Given the description of an element on the screen output the (x, y) to click on. 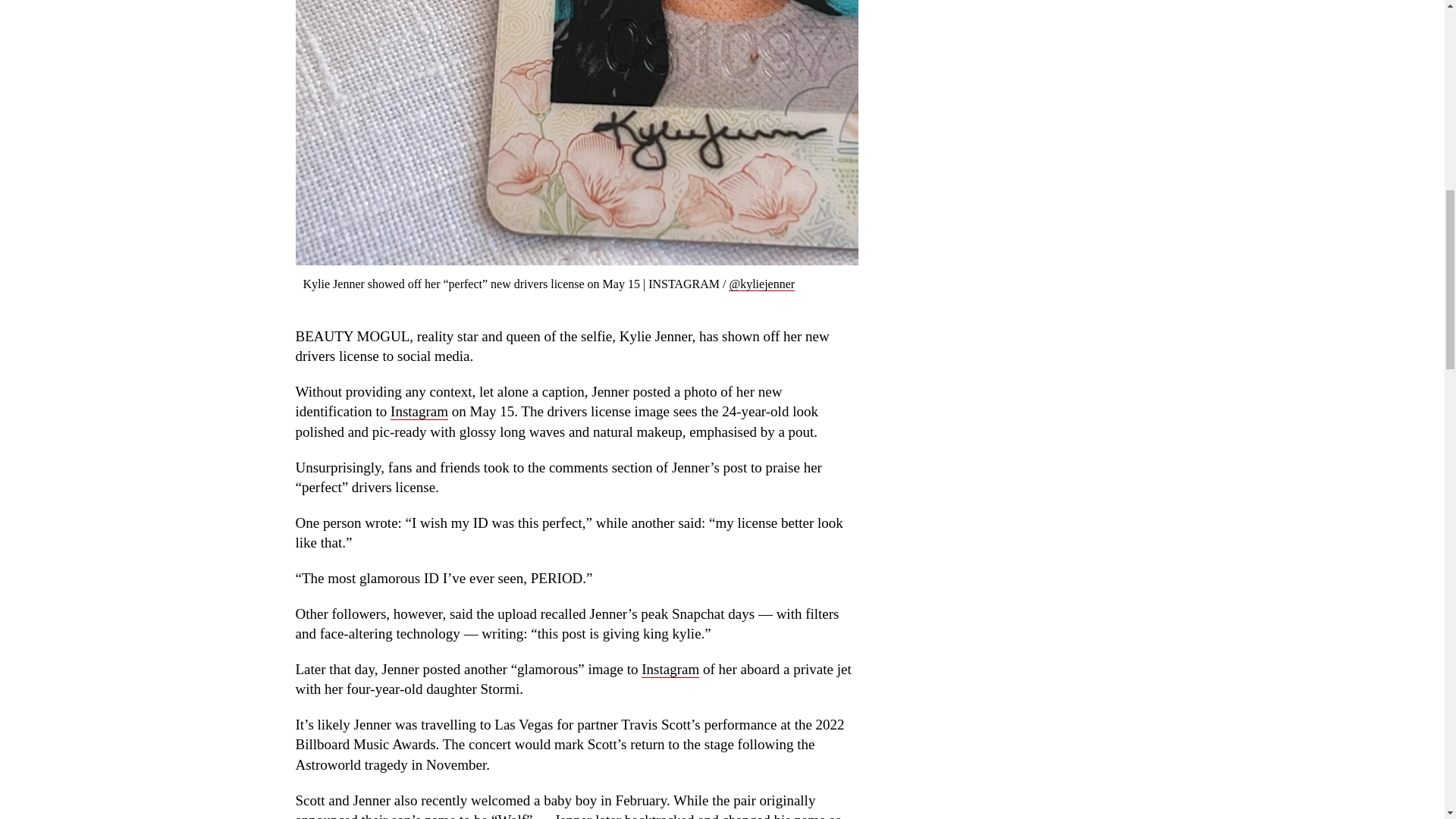
Instagram (670, 669)
Jenner later backtracked (624, 815)
Instagram (419, 411)
